Given the description of an element on the screen output the (x, y) to click on. 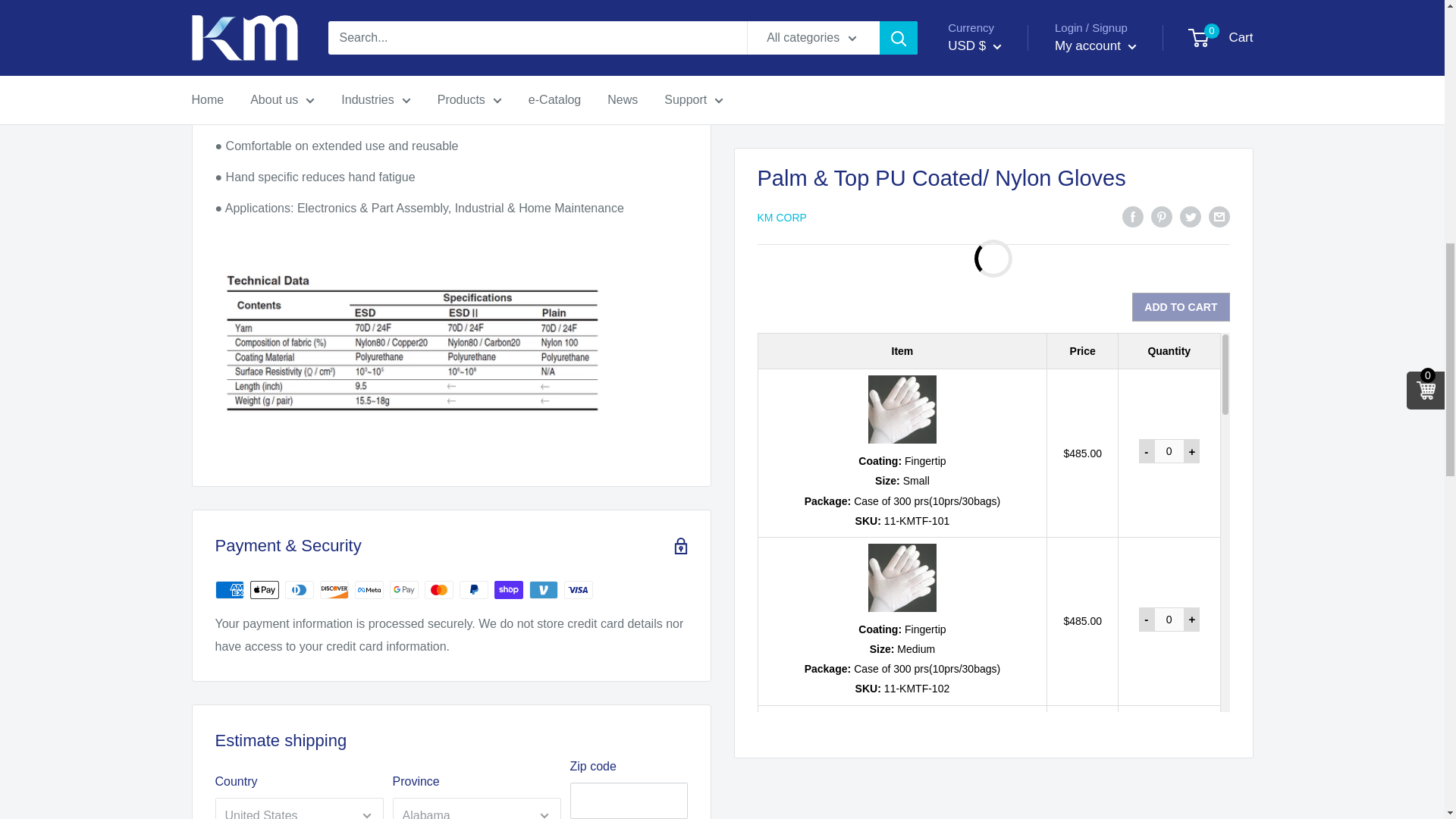
0 (1169, 369)
0 (1169, 33)
0 (1169, 537)
0 (1169, 200)
